Given the description of an element on the screen output the (x, y) to click on. 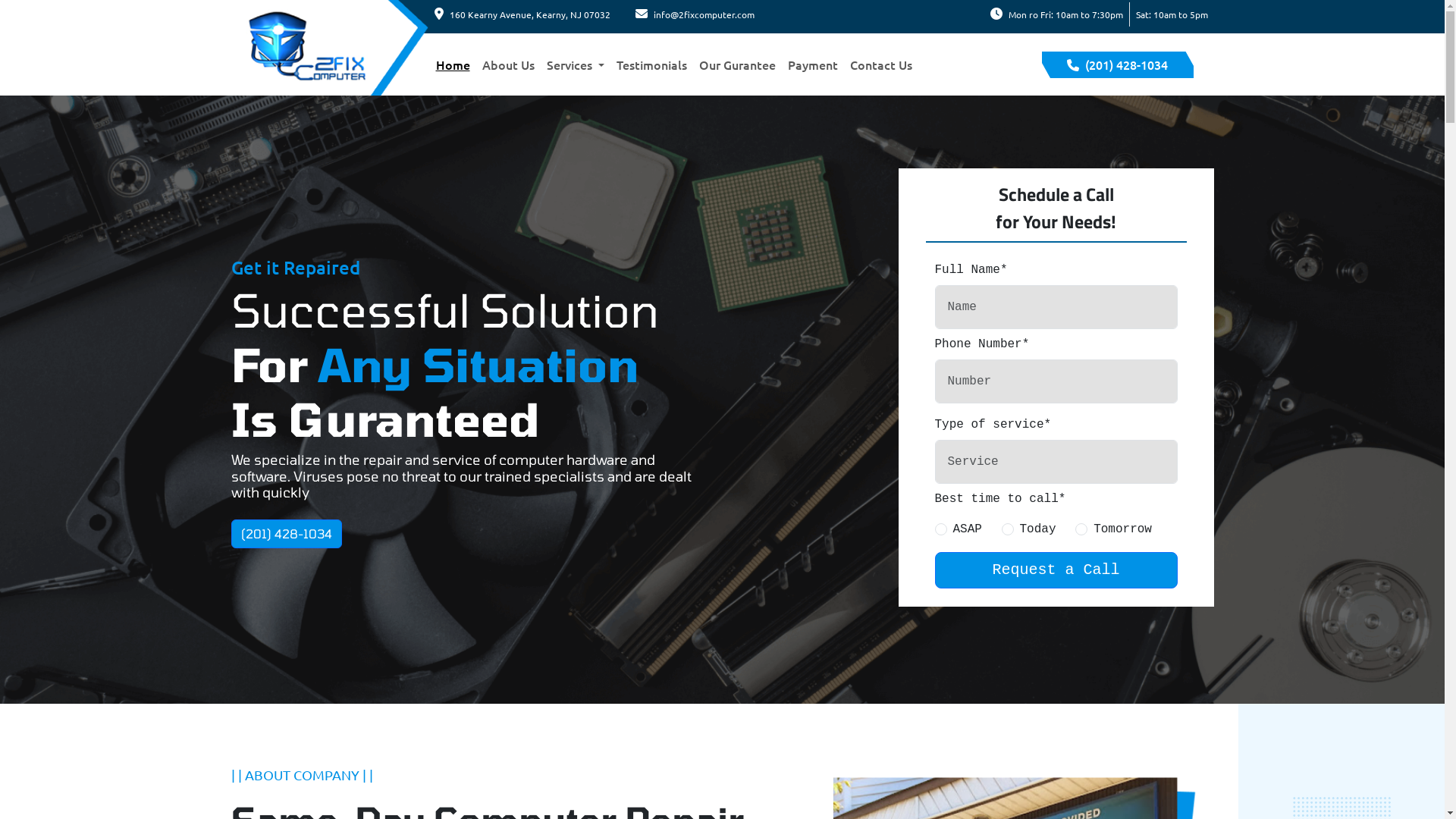
Request a Call Element type: text (1055, 570)
Payment Element type: text (812, 64)
  (201) 428-1034 Element type: text (1117, 64)
Our Gurantee Element type: text (737, 64)
info@2fixcomputer.com Element type: text (697, 14)
(201) 428-1034 Element type: text (285, 533)
Mon ro Fri: 10am to 7:30pmSat: 10am to 5pm Element type: text (1102, 14)
160 Kearny Avenue, Kearny, NJ 07032 Element type: text (524, 14)
Contact Us Element type: text (881, 64)
Services Element type: text (574, 64)
Home Element type: text (452, 64)
About Us Element type: text (508, 64)
Testimonials Element type: text (651, 64)
